Given the description of an element on the screen output the (x, y) to click on. 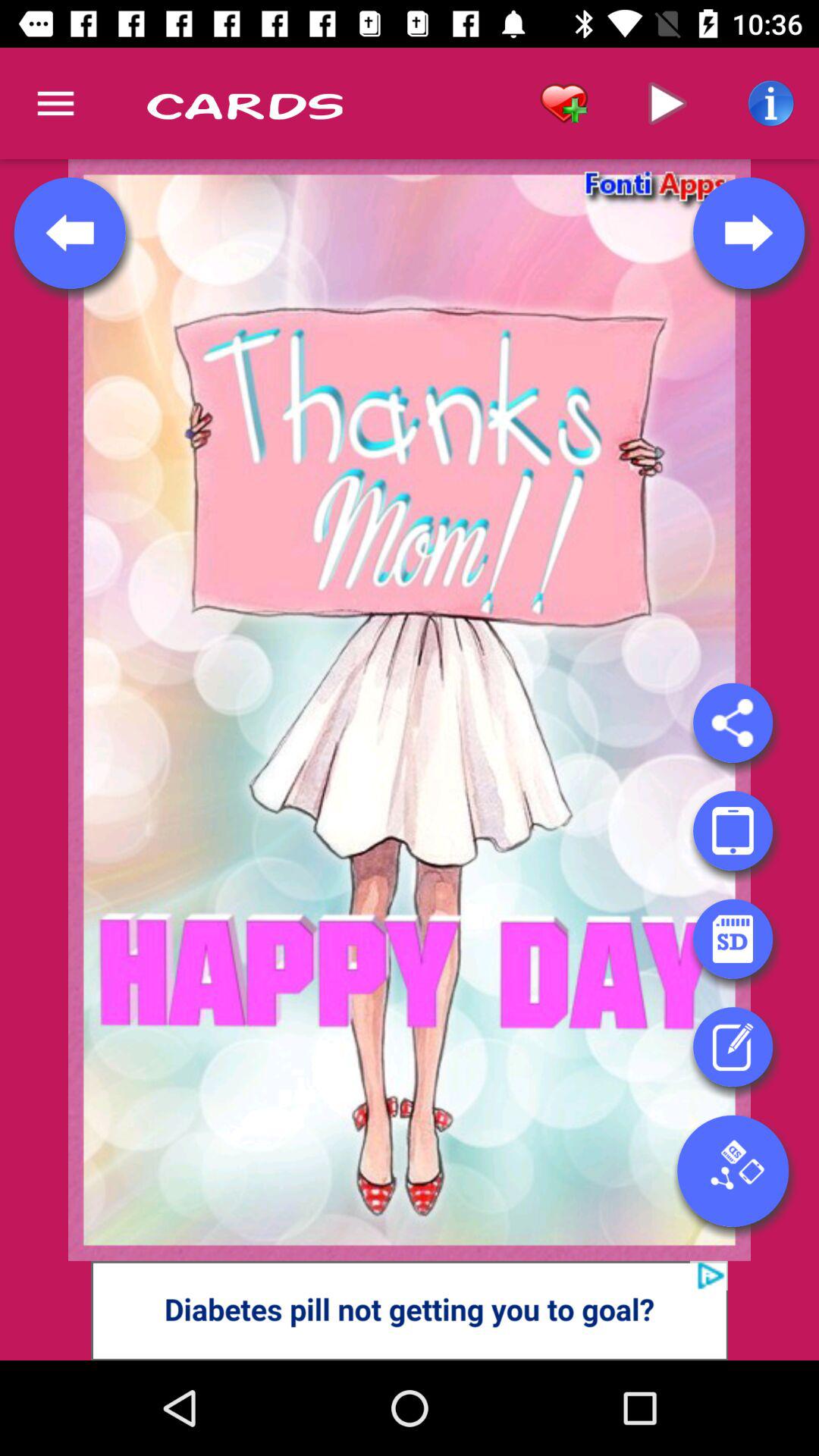
emoji (733, 938)
